Given the description of an element on the screen output the (x, y) to click on. 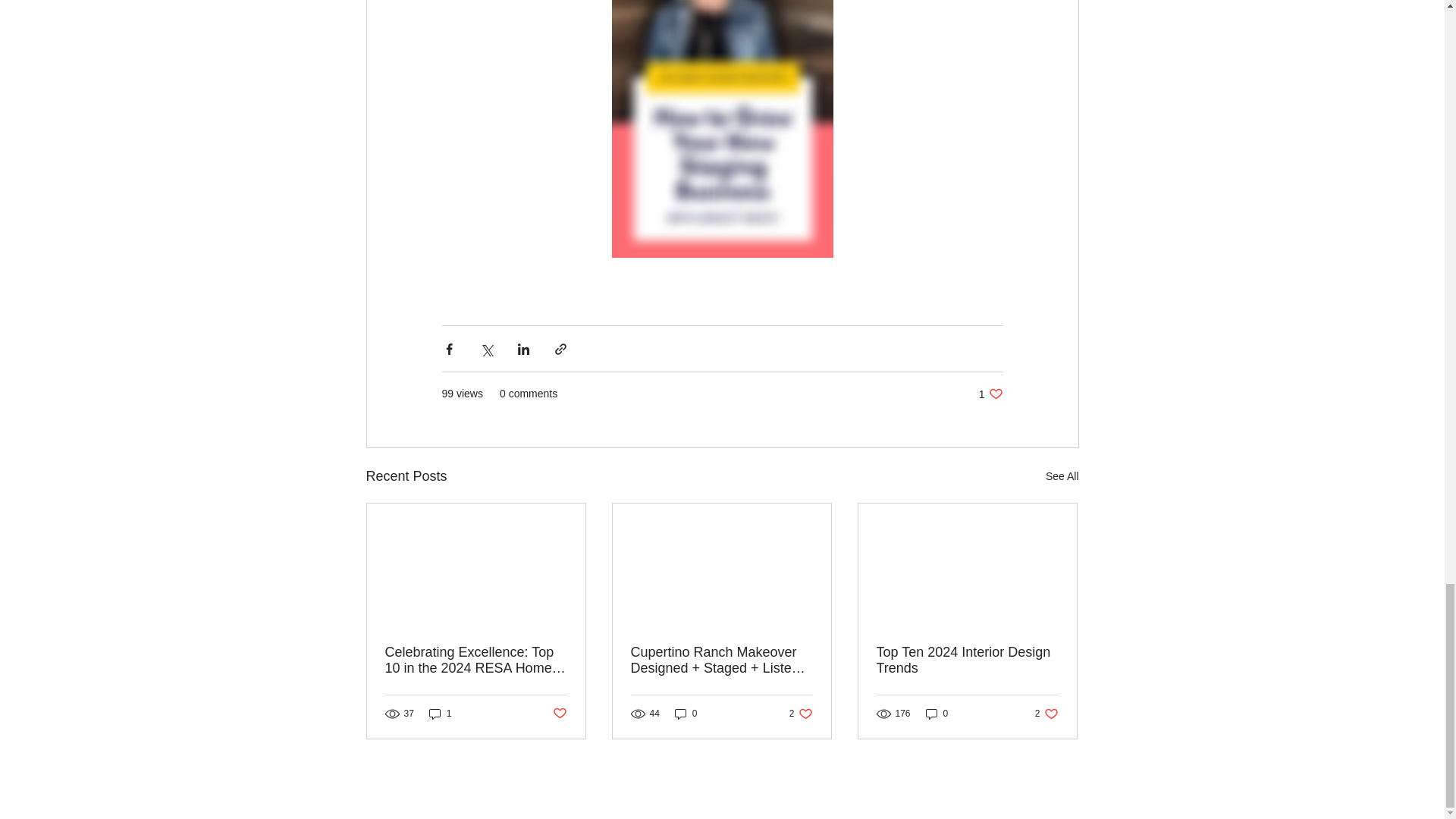
0 (1046, 712)
0 (685, 712)
Top Ten 2024 Interior Design Trends (990, 393)
See All (937, 712)
1 (967, 660)
Post not marked as liked (800, 712)
